Given the description of an element on the screen output the (x, y) to click on. 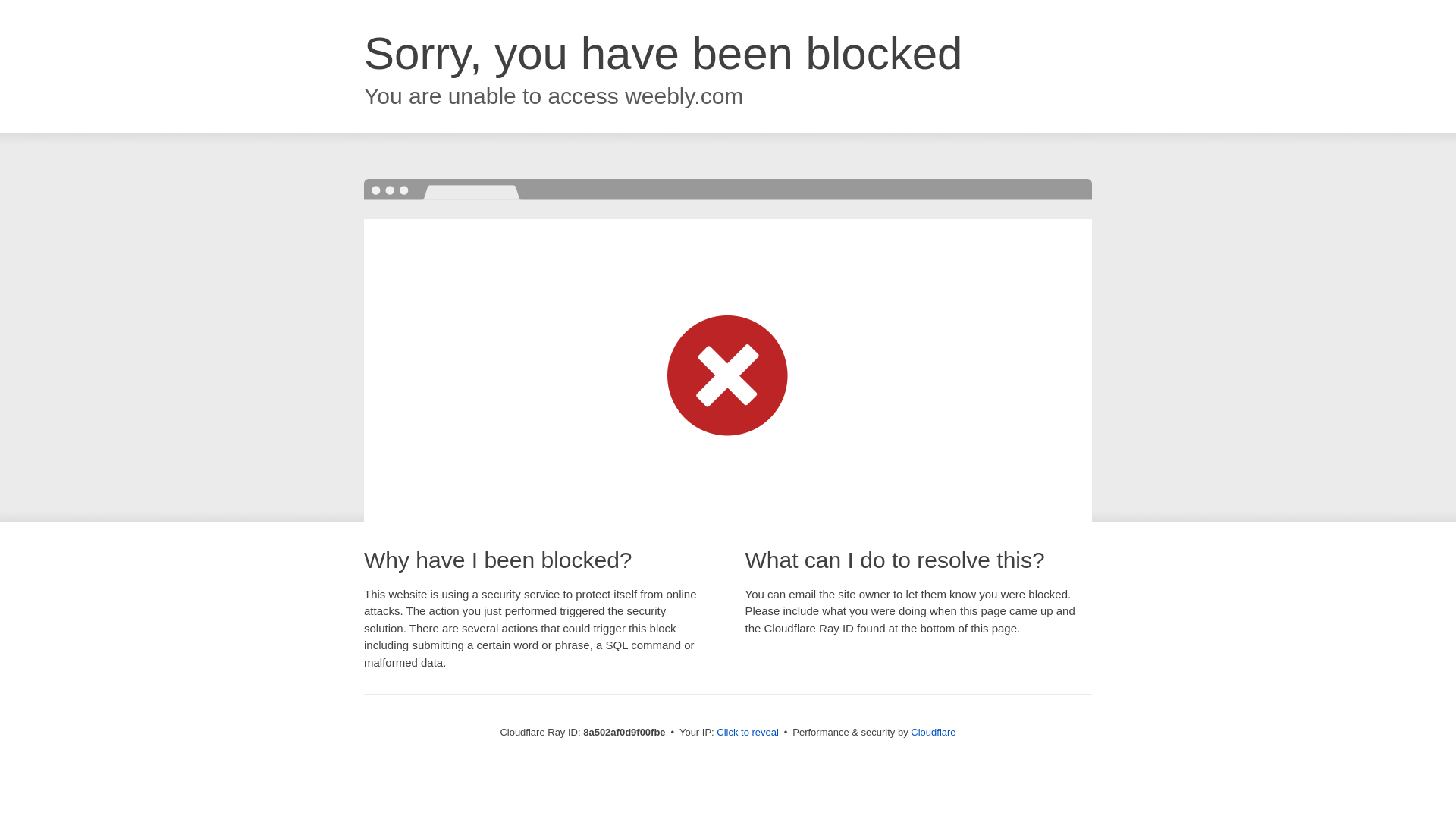
Click to reveal (747, 732)
Cloudflare (933, 731)
